Given the description of an element on the screen output the (x, y) to click on. 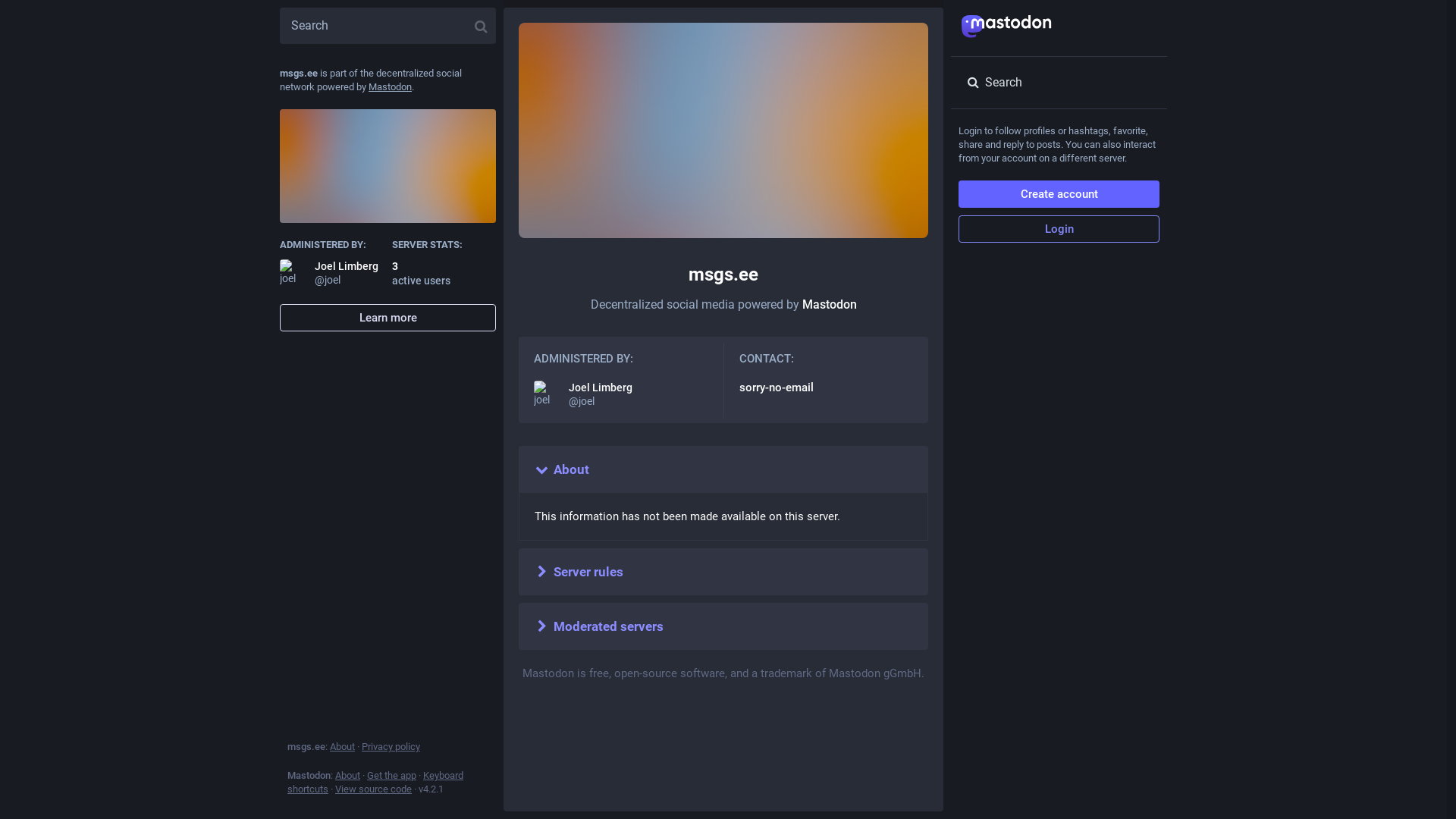
sorry-no-email Element type: text (775, 387)
About Element type: text (341, 746)
Joel Limberg
@joel Element type: text (620, 393)
Search Element type: text (1058, 82)
Create account Element type: text (1058, 193)
Get the app Element type: text (391, 775)
About Element type: text (347, 775)
Joel Limberg
@joel Element type: text (331, 272)
Learn more Element type: text (387, 317)
Mastodon Element type: text (389, 86)
Login Element type: text (1058, 228)
Mastodon Element type: text (829, 304)
View source code Element type: text (373, 788)
Privacy policy Element type: text (390, 746)
Keyboard shortcuts Element type: text (375, 781)
